Given the description of an element on the screen output the (x, y) to click on. 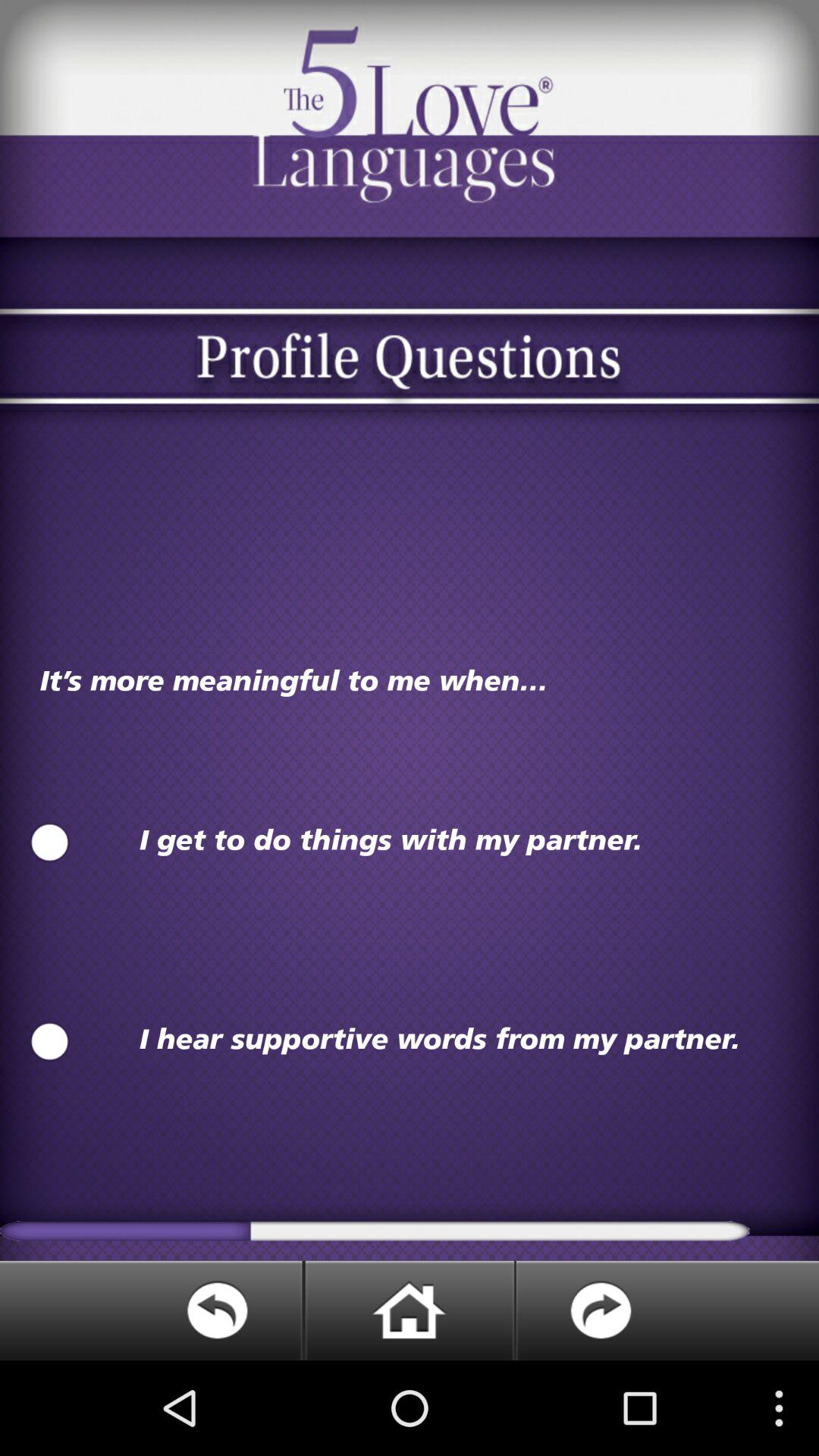
select second option (49, 1041)
